Given the description of an element on the screen output the (x, y) to click on. 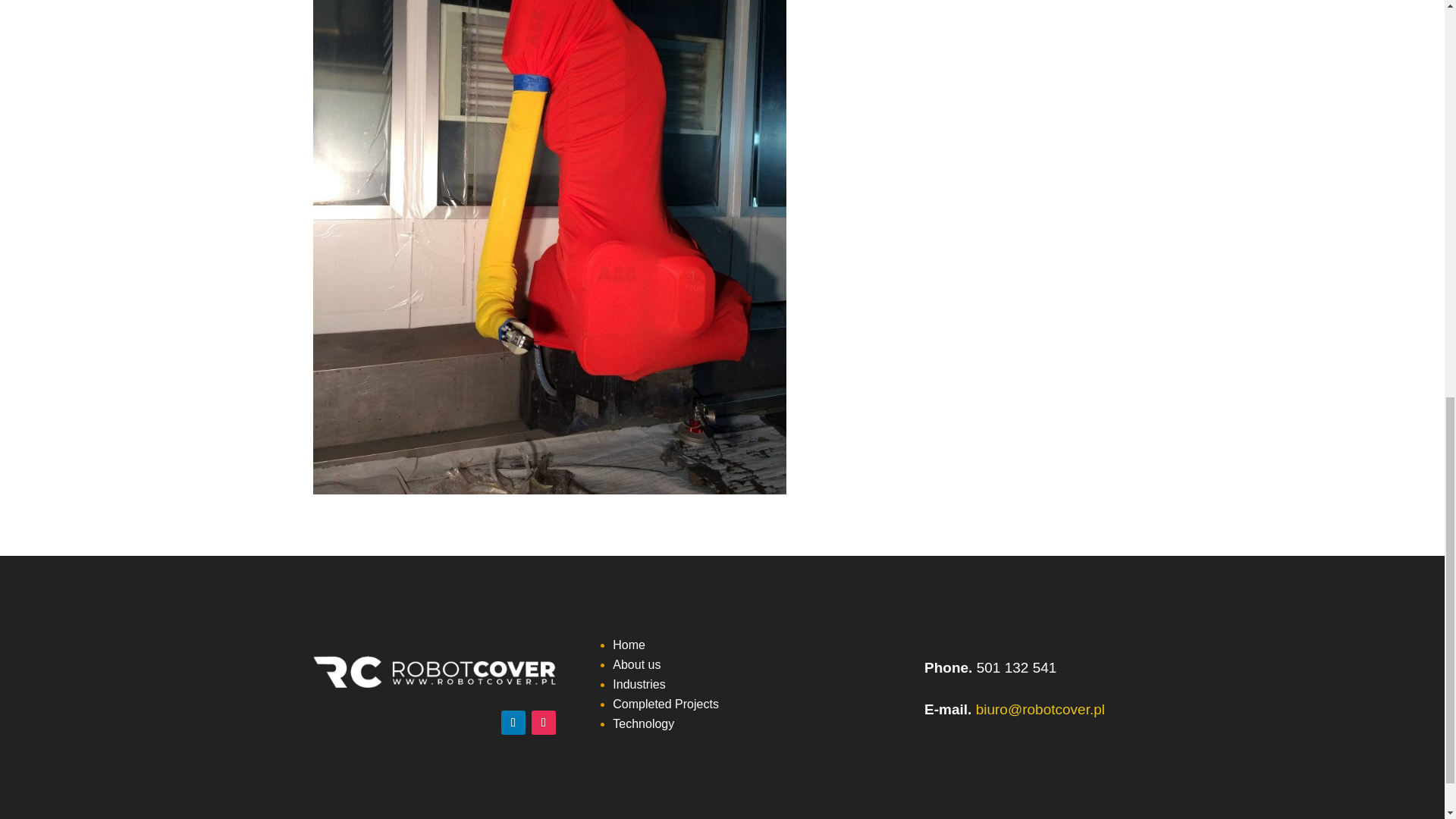
Completed Projects (665, 703)
Follow on LinkedIn (512, 722)
Home (628, 644)
Technology (643, 723)
logo-1 (433, 671)
Industries (638, 684)
Follow on Instagram (543, 722)
About us (636, 664)
